Given the description of an element on the screen output the (x, y) to click on. 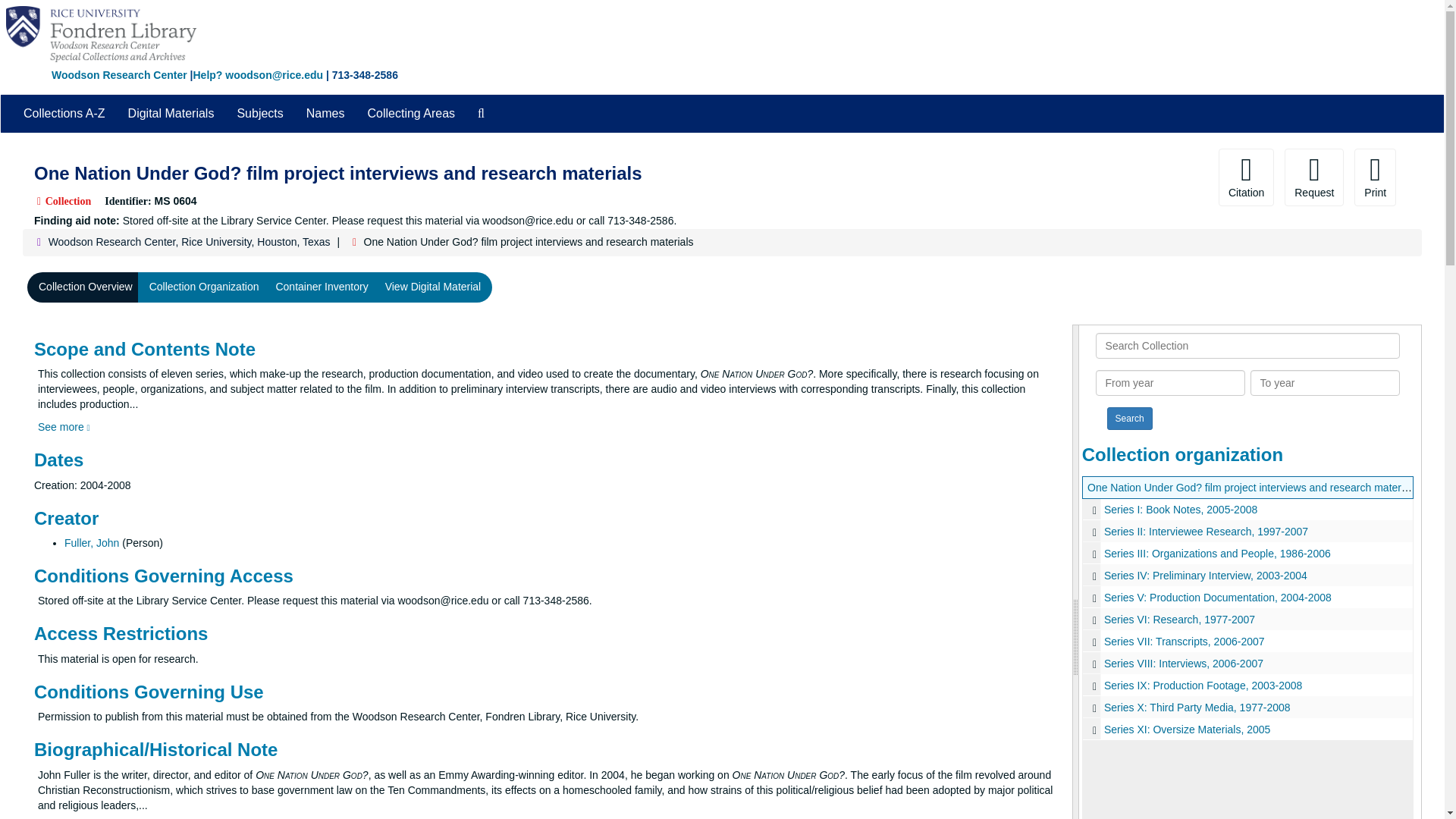
See more (63, 426)
Collection Organization (204, 286)
Series II: Interviewee Research (1247, 531)
Subjects (259, 113)
Woodson Research Center, Rice University, Houston, Texas (189, 241)
Series I: Book Notes (1247, 508)
Series VIII: Interviews (1247, 662)
View Digital Material (433, 286)
Search (1129, 418)
Collecting Areas (410, 113)
Fuller, John (91, 542)
Series VI: Research (1247, 618)
Request (1313, 177)
Page Actions (1130, 177)
Collections A-Z (63, 113)
